Given the description of an element on the screen output the (x, y) to click on. 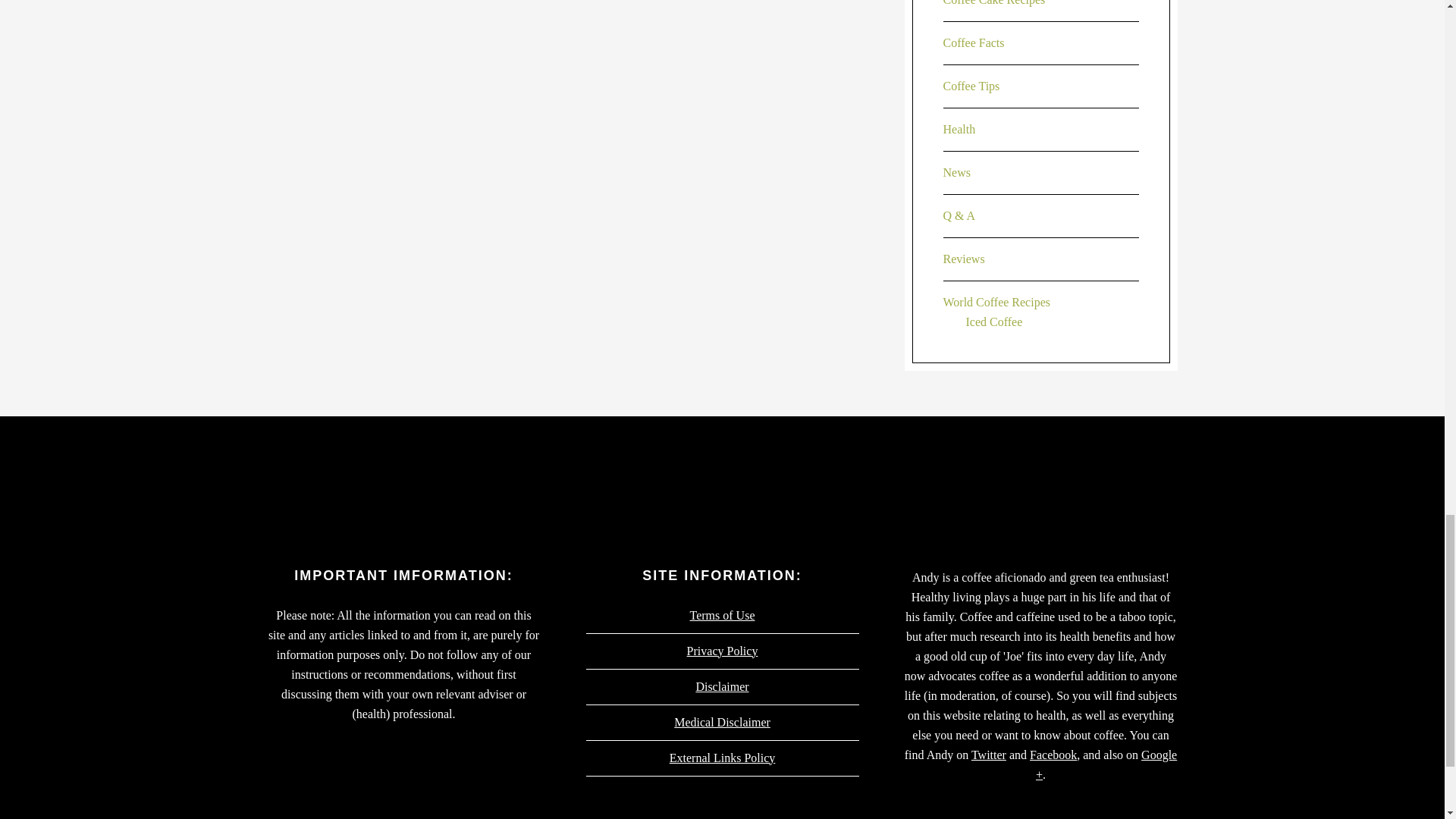
Coffee Tips (971, 85)
Coffee Cake Recipes (994, 2)
News (957, 172)
Coffee Facts (973, 42)
Health (959, 128)
